Given the description of an element on the screen output the (x, y) to click on. 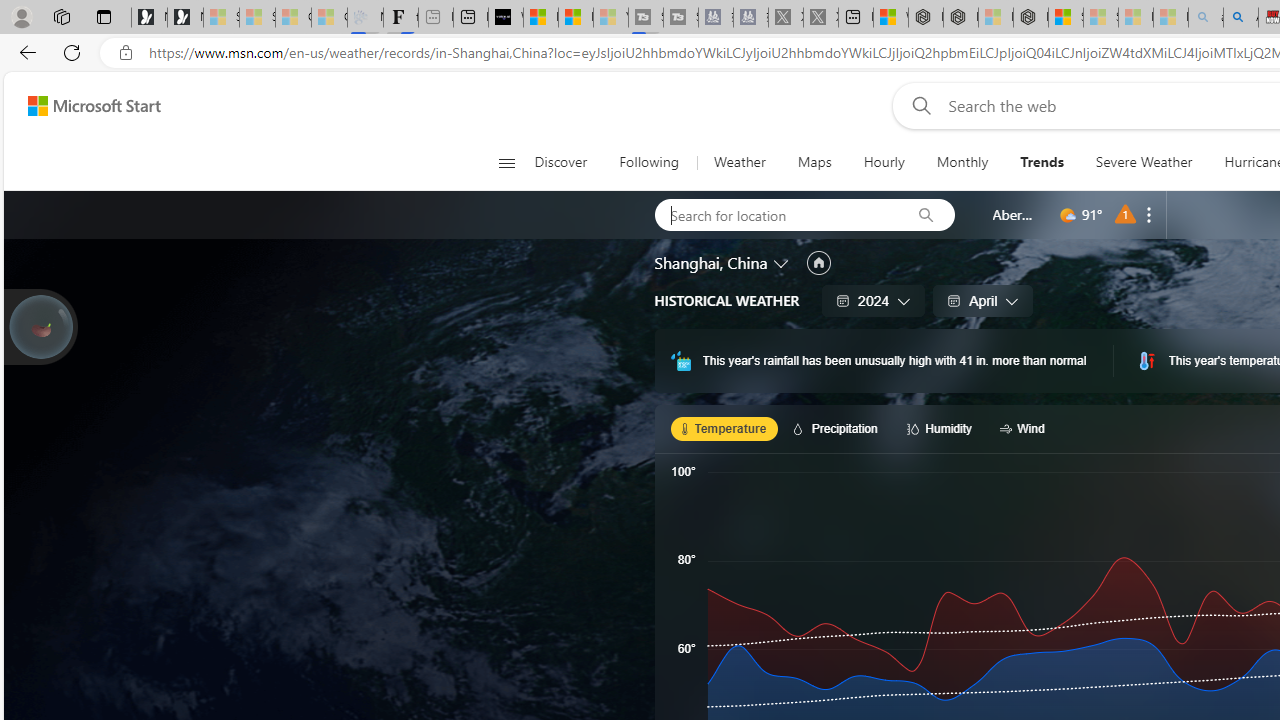
Trends (1041, 162)
Temperature (724, 428)
2024 (873, 300)
April (982, 300)
Change location (782, 262)
amazon - Search - Sleeping (1205, 17)
Amazon Echo Dot PNG - Search Images (1240, 17)
